Given the description of an element on the screen output the (x, y) to click on. 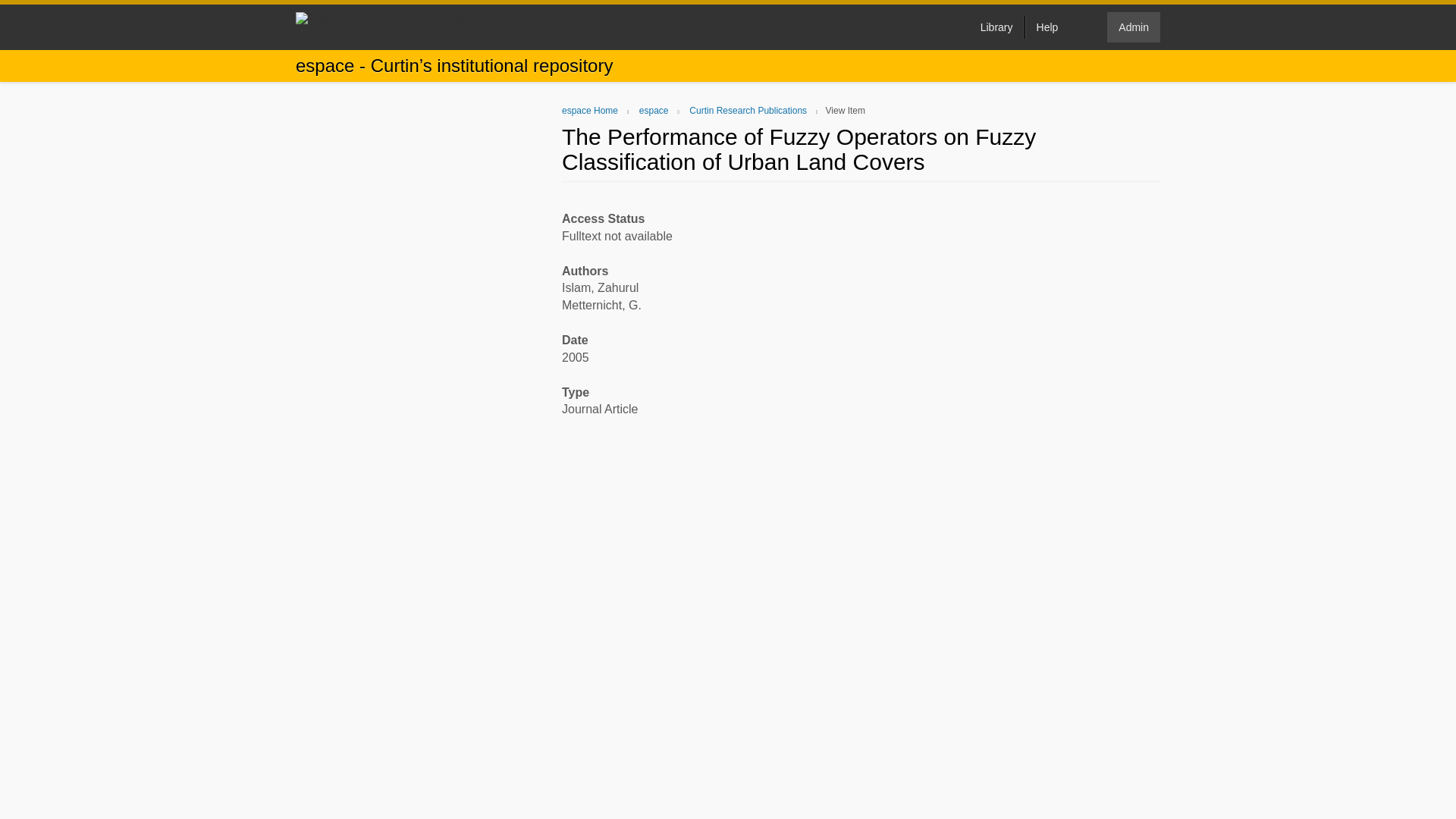
Admin (1133, 27)
Help (1047, 26)
Curtin University Homepage (387, 27)
espace Home (589, 110)
espace (653, 110)
Curtin Research Publications (747, 110)
Library (997, 26)
